Given the description of an element on the screen output the (x, y) to click on. 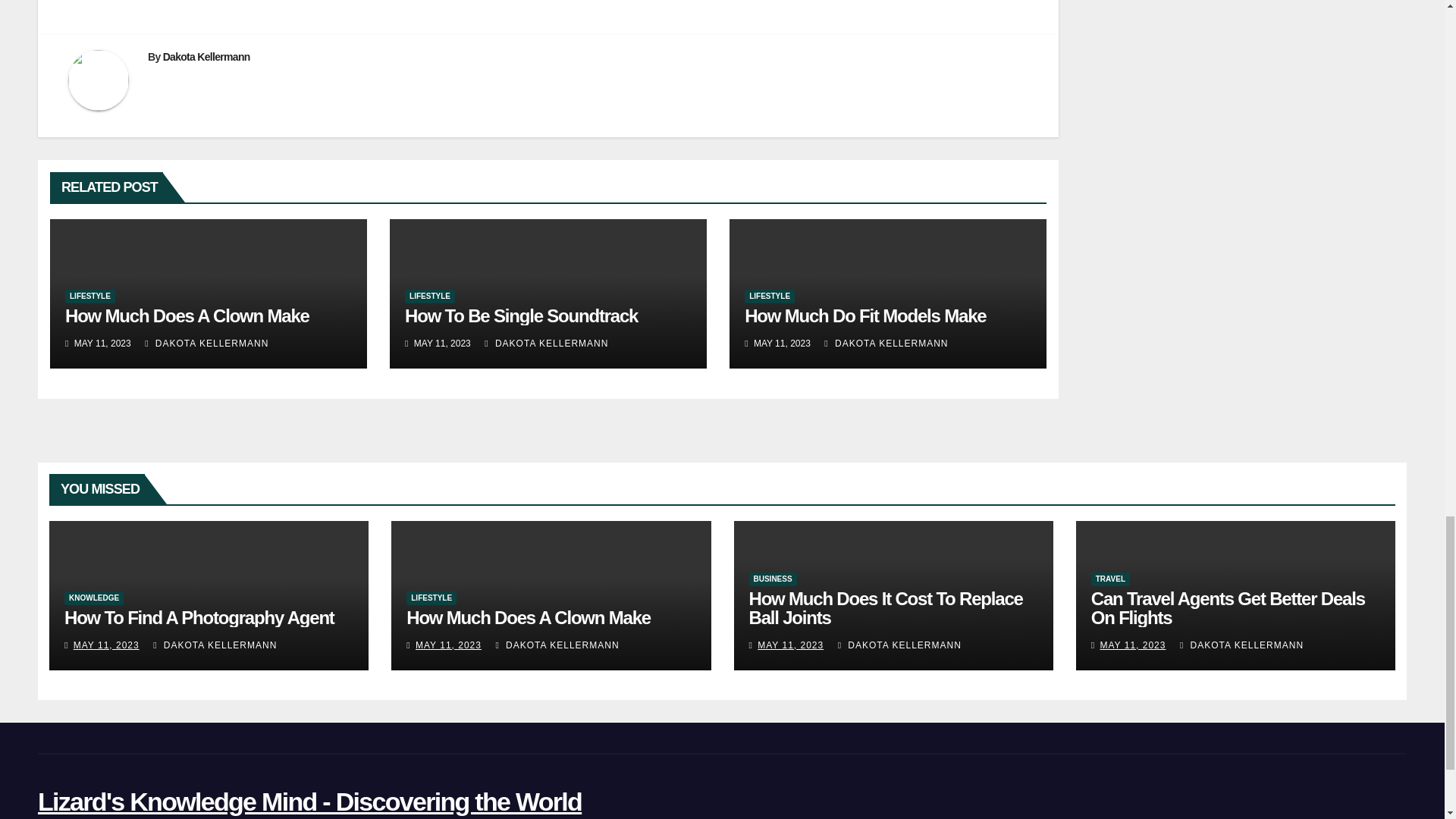
Permalink to: How Much Does A Clown Make (186, 315)
Permalink to: How Much Do Fit Models Make (864, 315)
Permalink to: How Much Does It Cost To Replace Ball Joints (886, 608)
Permalink to: How To Be Single Soundtrack (520, 315)
Permalink to: How Much Does A Clown Make (528, 617)
Permalink to: How To Find A Photography Agent (199, 617)
Permalink to: Can Travel Agents Get Better Deals On Flights (1227, 608)
